Given the description of an element on the screen output the (x, y) to click on. 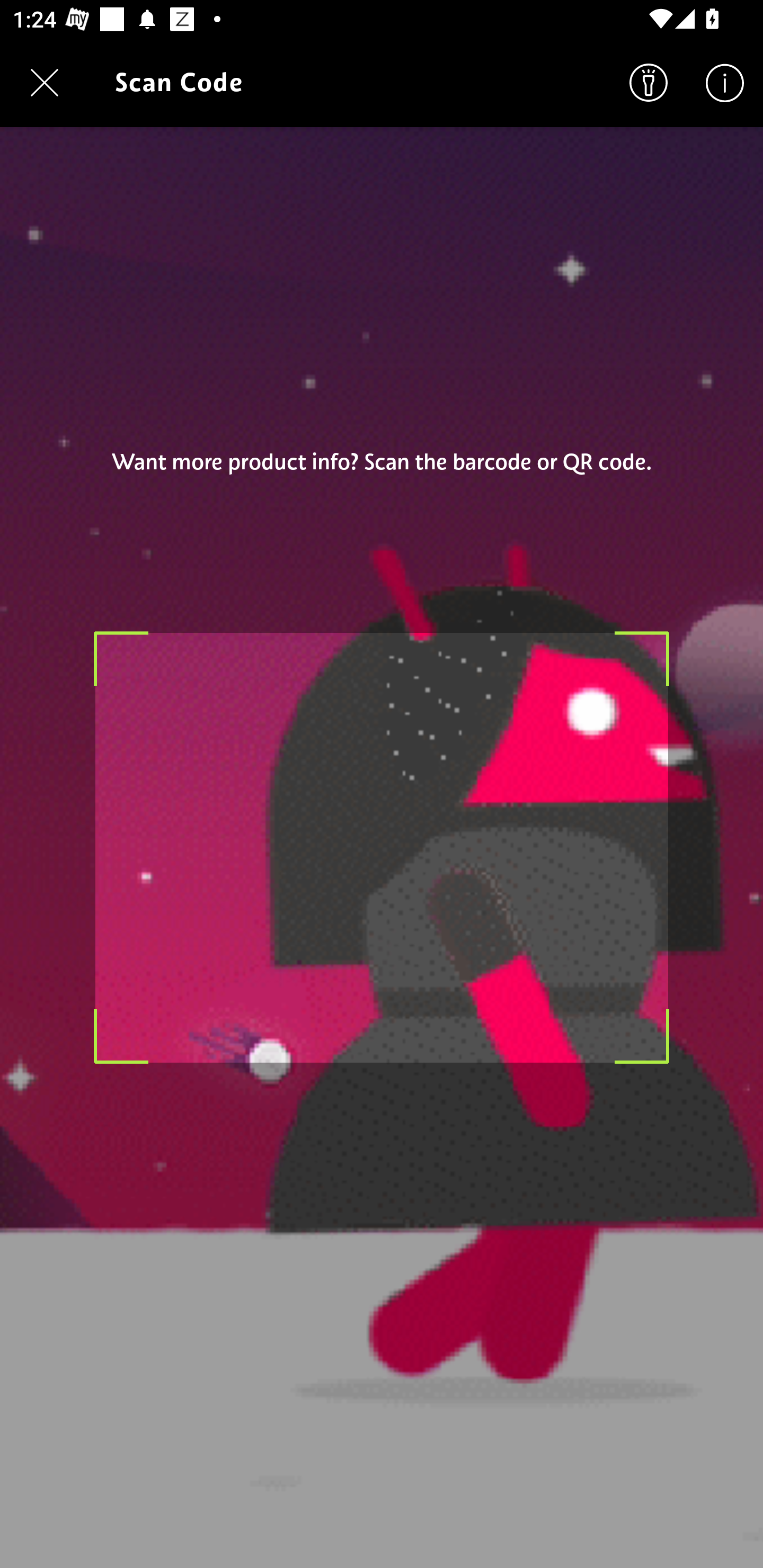
Navigate up (44, 82)
Search (648, 81)
Help (724, 81)
